Given the description of an element on the screen output the (x, y) to click on. 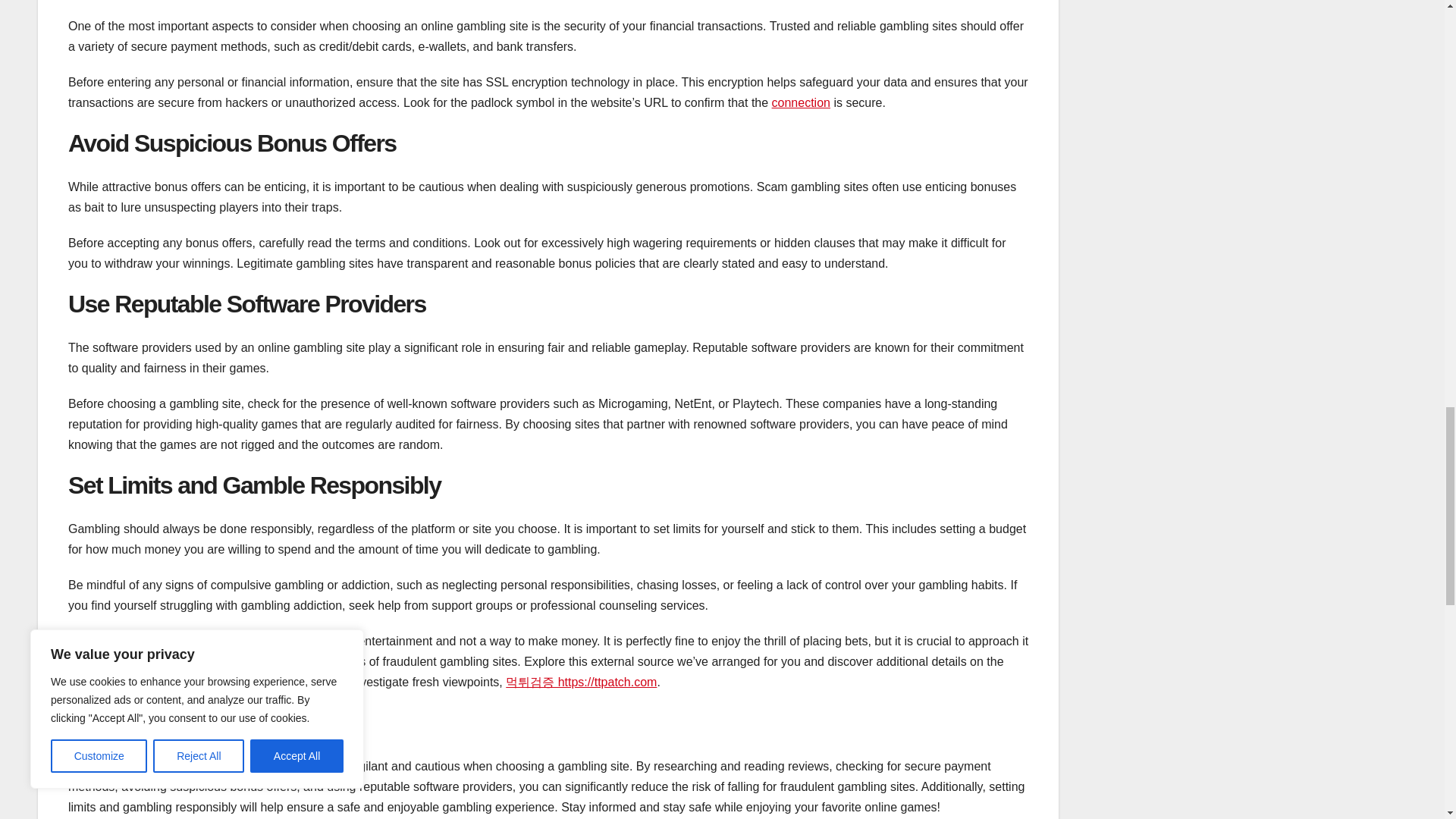
connection (800, 102)
